Given the description of an element on the screen output the (x, y) to click on. 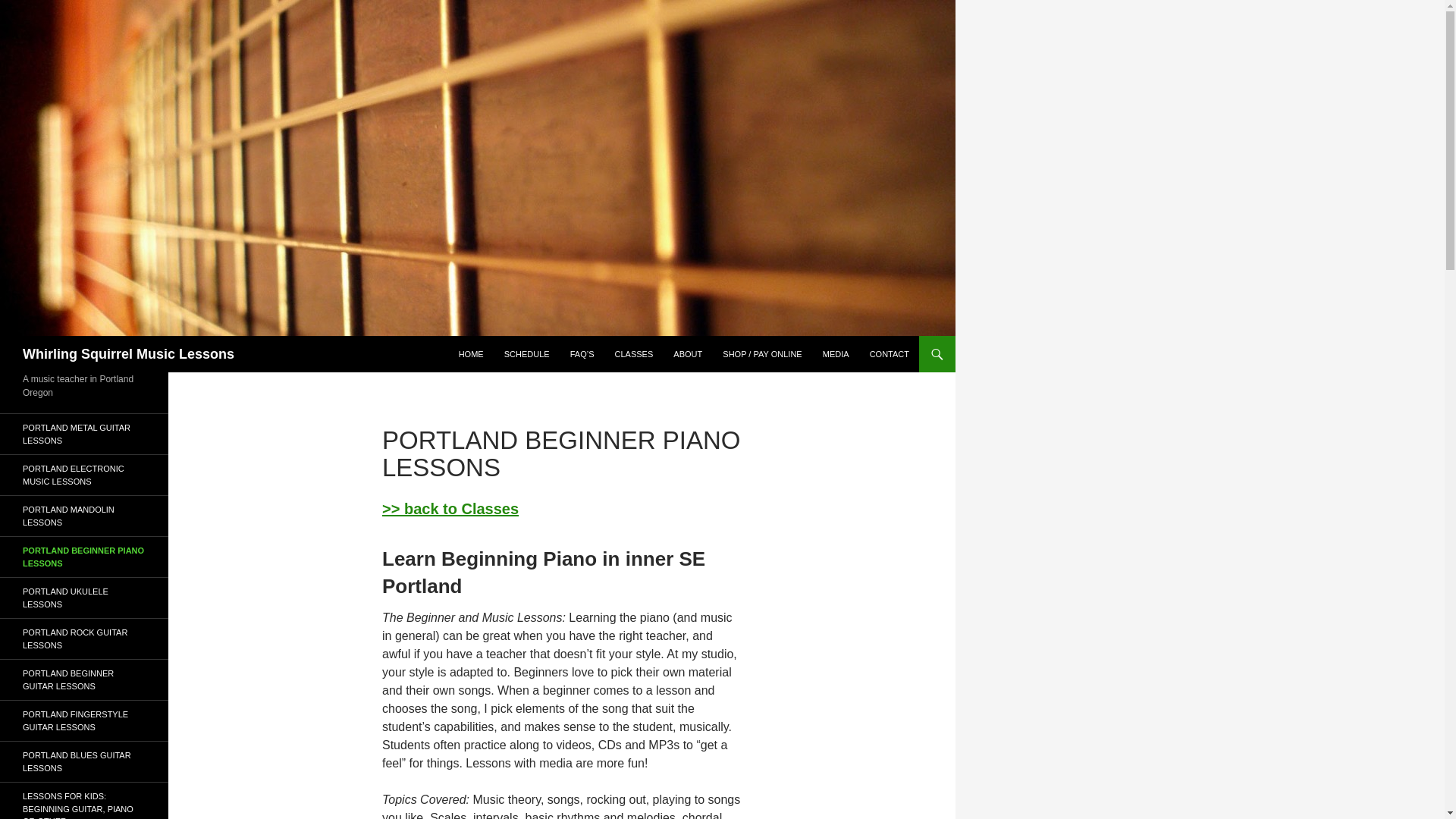
PORTLAND BLUES GUITAR LESSONS (84, 762)
CLASSES (633, 353)
PORTLAND FINGERSTYLE GUITAR LESSONS (84, 721)
SCHEDULE (527, 353)
PORTLAND METAL GUITAR LESSONS (84, 434)
classes (449, 508)
LESSONS FOR KIDS: BEGINNING GUITAR, PIANO OR OTHER (84, 800)
MEDIA (836, 353)
HOME (471, 353)
Search (30, 8)
PORTLAND BEGINNER GUITAR LESSONS (84, 680)
PORTLAND MANDOLIN LESSONS (84, 516)
Whirling Squirrel Music Lessons (128, 353)
